Given the description of an element on the screen output the (x, y) to click on. 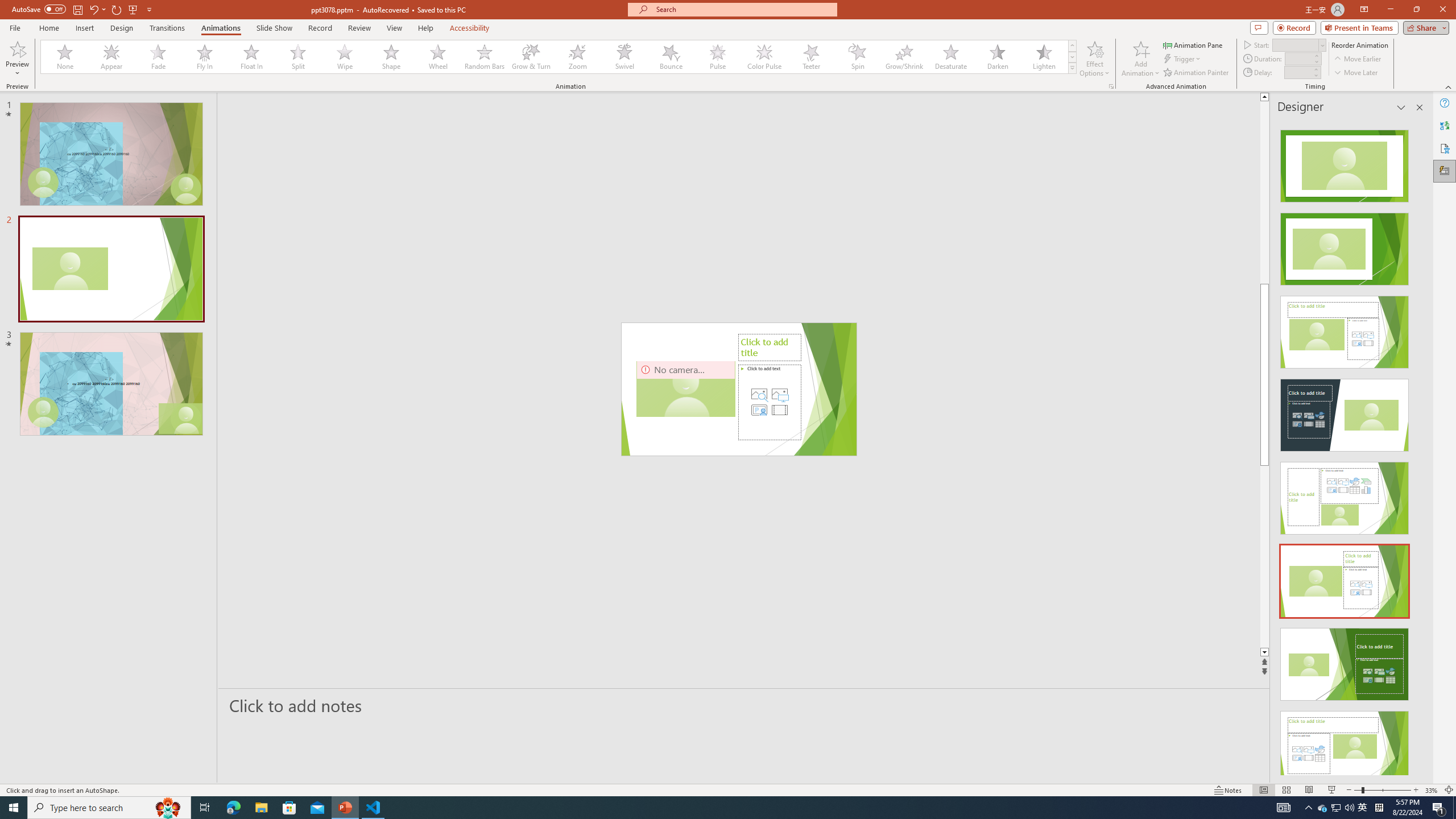
AutomationID: AnimationGallery (558, 56)
Preview (17, 58)
Split (298, 56)
Customize Quick Access Toolbar (149, 9)
